Given the description of an element on the screen output the (x, y) to click on. 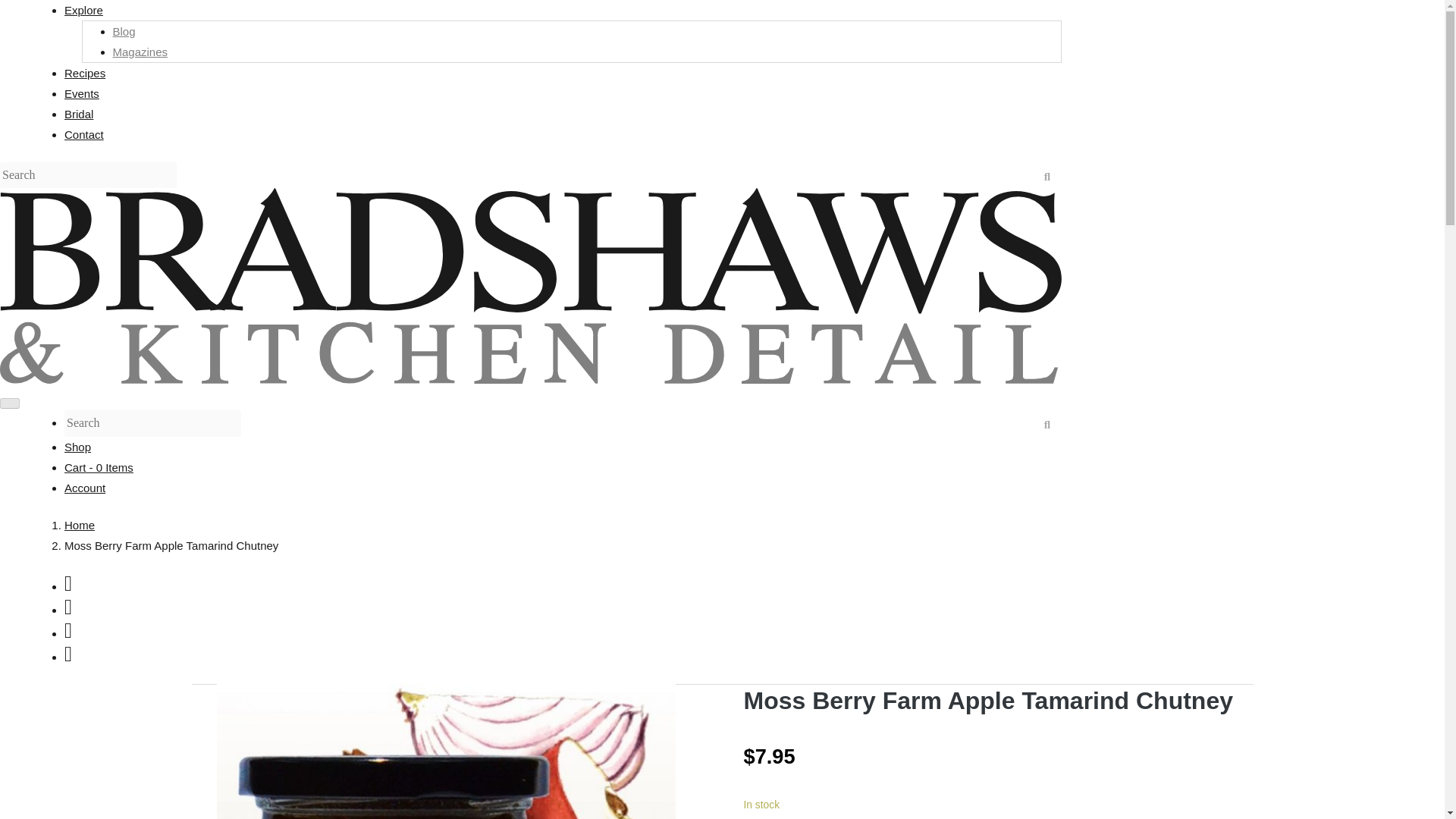
Shop (77, 446)
Account (84, 487)
Events (81, 92)
Cart - 0 Items (562, 467)
Events (81, 92)
Blog (123, 31)
Click here to view product image (445, 751)
Contact (83, 133)
Explore (83, 10)
Bridal (78, 113)
Recipes (84, 72)
Magazines (139, 51)
Explore (83, 10)
Magazines (139, 51)
Contact (83, 133)
